Given the description of an element on the screen output the (x, y) to click on. 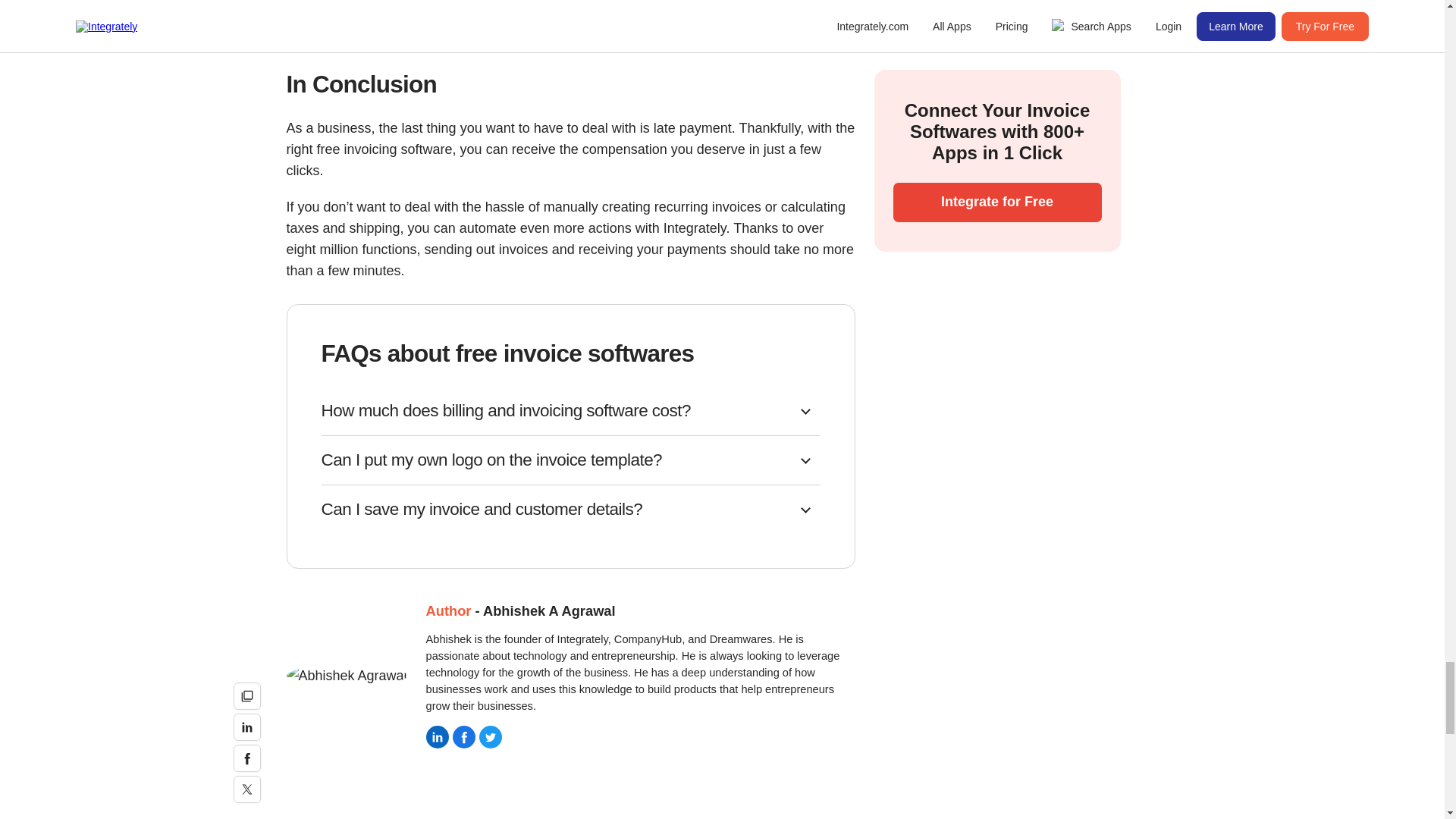
Twitter (490, 736)
Facebook (464, 736)
Linkedin (437, 736)
